Given the description of an element on the screen output the (x, y) to click on. 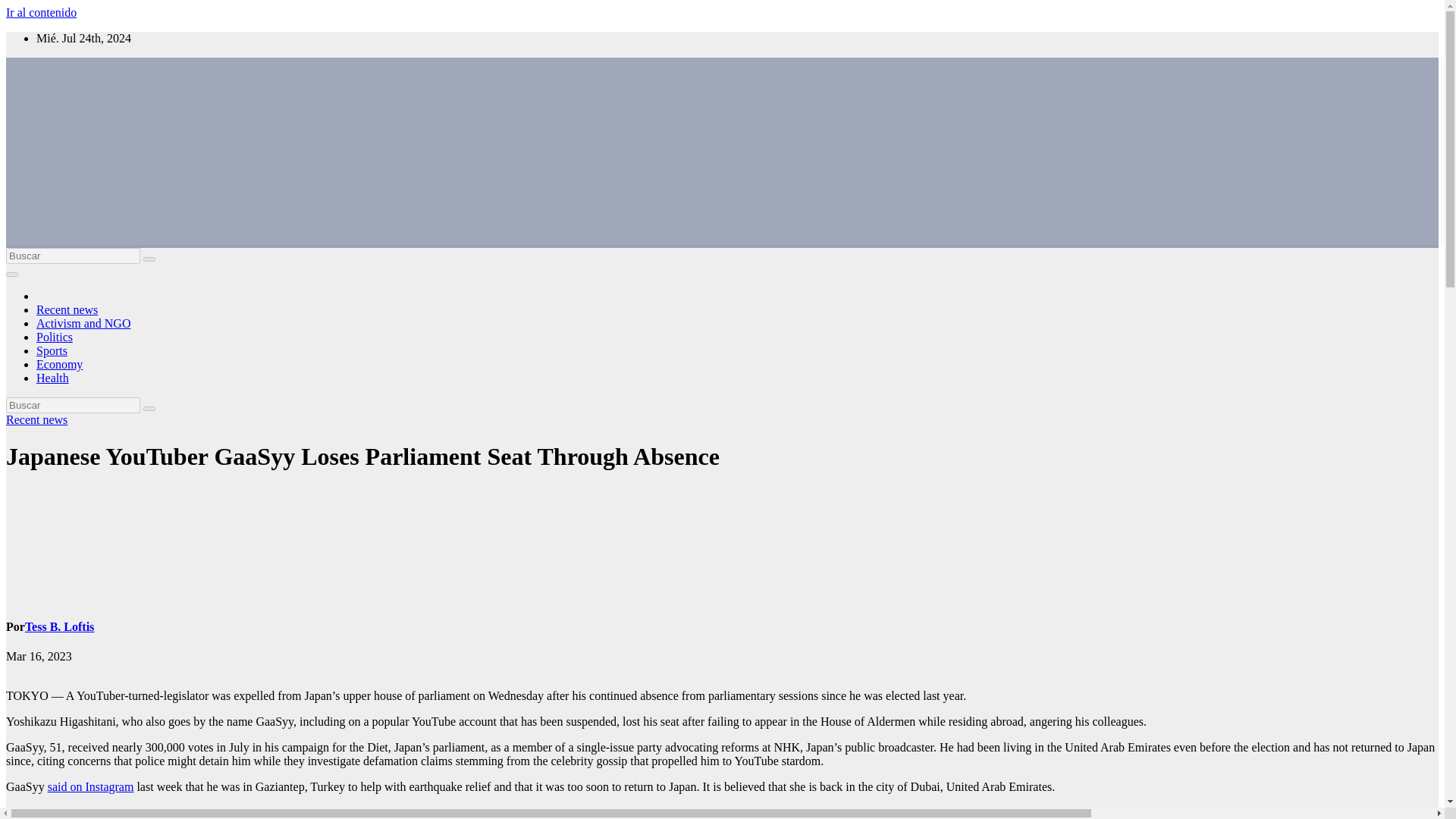
Politics (54, 336)
Ir al contenido (41, 11)
Economy (59, 364)
Sports (51, 350)
Recent news (35, 419)
Politics (54, 336)
Activism and NGO (83, 323)
Tess B. Loftis (59, 626)
Health (52, 377)
Recent news (66, 309)
Activism and NGO (83, 323)
said on Instagram (90, 786)
Sports (51, 350)
Economy (59, 364)
